Given the description of an element on the screen output the (x, y) to click on. 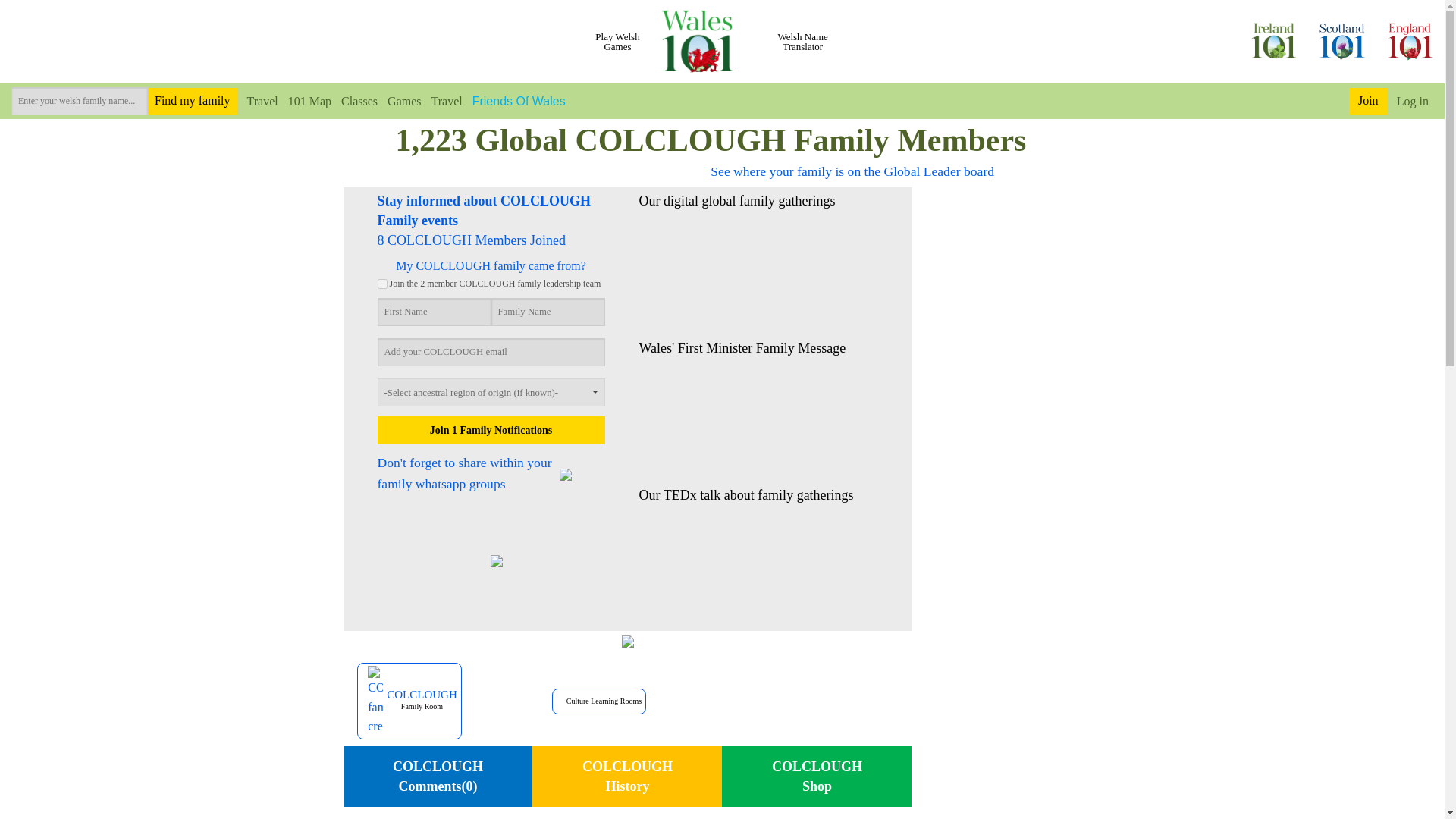
Join 1 Family Notifications (491, 430)
Find my family (192, 101)
1 (382, 284)
Classes (354, 100)
Games (398, 100)
Travel (442, 100)
Travel (257, 100)
101 Map (304, 100)
Welsh Name Translator (803, 41)
